Given the description of an element on the screen output the (x, y) to click on. 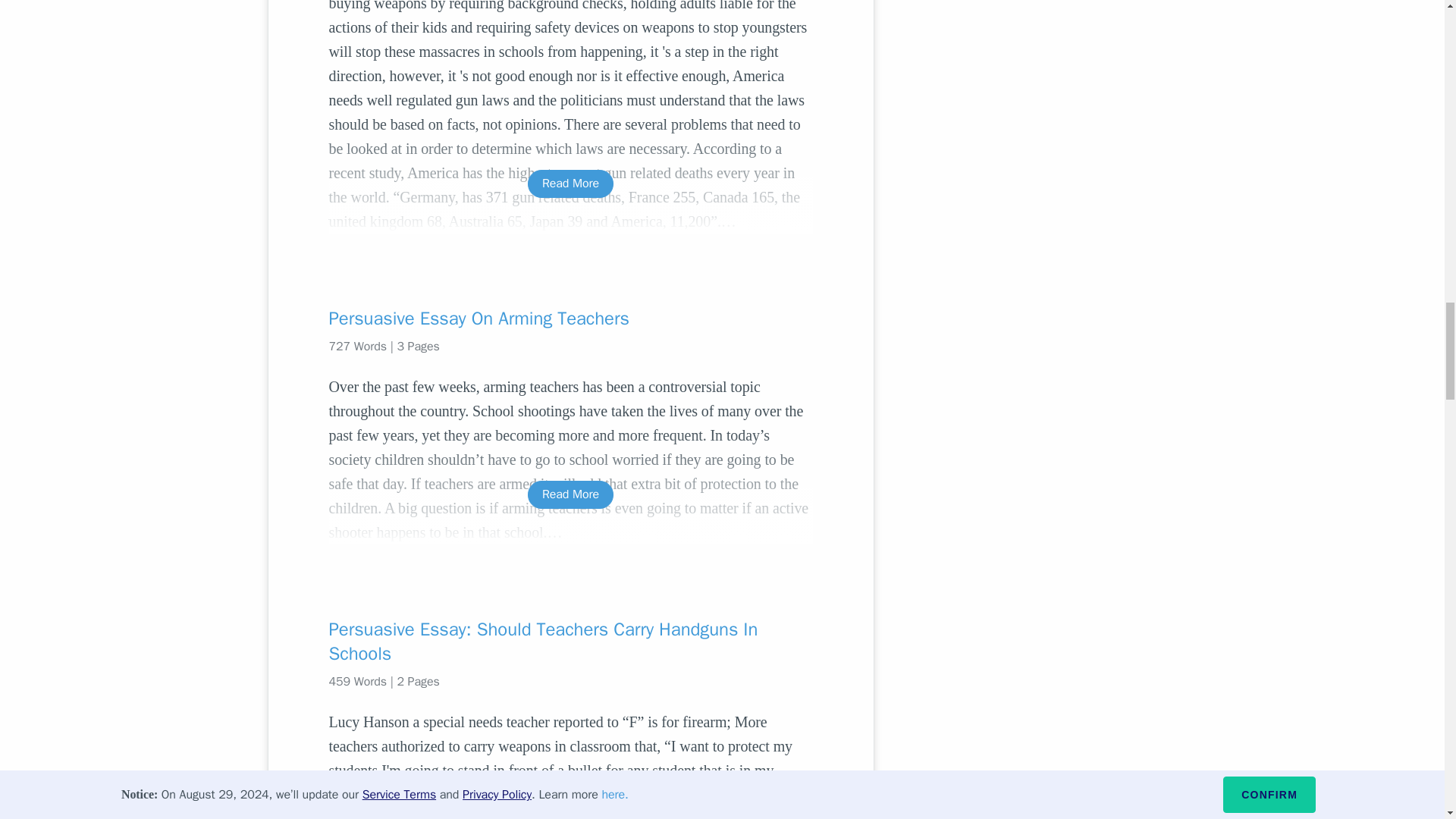
Persuasive Essay: Should Teachers Carry Handguns In Schools (570, 641)
Read More (569, 183)
Read More (569, 494)
Persuasive Essay On Arming Teachers (570, 318)
Read More (569, 817)
